Given the description of an element on the screen output the (x, y) to click on. 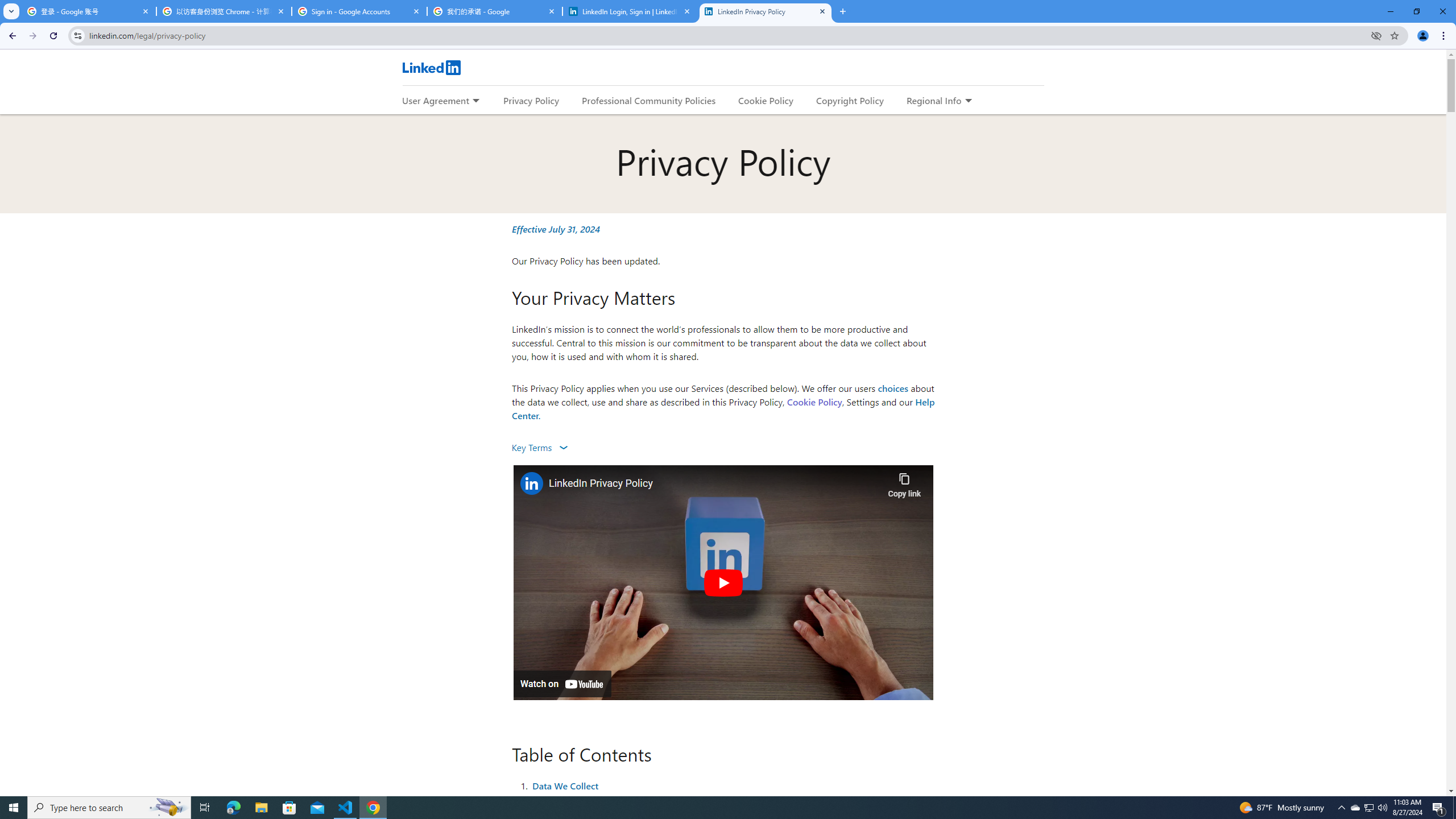
Copy link (904, 482)
LinkedIn Logo (430, 67)
choices (892, 387)
Help Center. (723, 408)
Expand to show more links for User Agreement (475, 101)
Copyright Policy (849, 100)
Effective July 31, 2024 (555, 228)
